Given the description of an element on the screen output the (x, y) to click on. 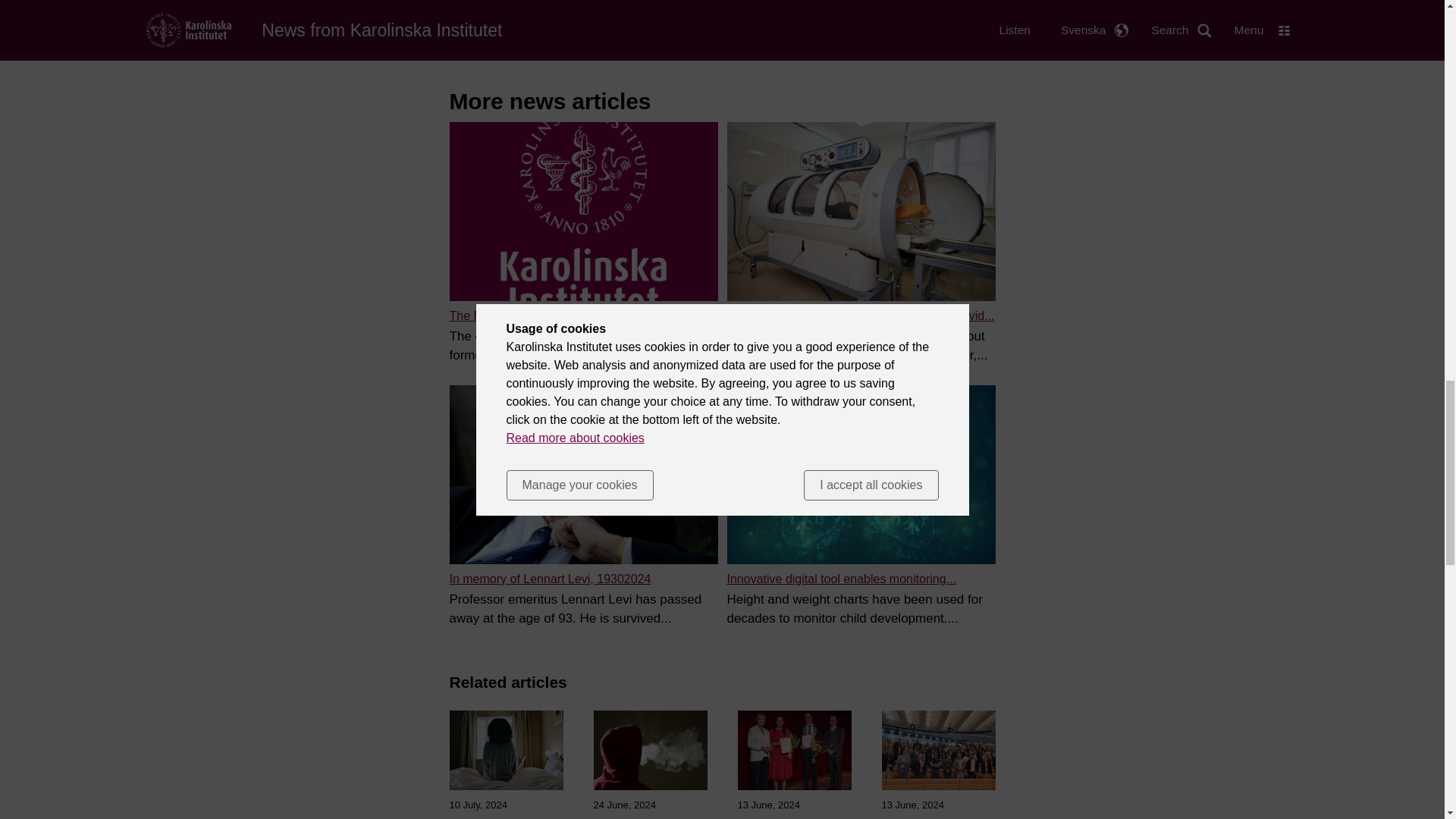
Facebook (523, 26)
Hyperbaric oxygen therapy tested for post-covid... (860, 315)
Twitter (576, 26)
In memory of Lennart Levi, 19302024 (549, 578)
The Macchiarini case: Timeline (531, 315)
Women lose more years of life after a heart attack than men (505, 817)
Nicotine in a new guise (649, 817)
The Macchiarini case: Timeline (531, 315)
Hyperbaric oxygen therapy tested for post-covid... (860, 315)
Innovative digital tool enables monitoring... (840, 578)
Innovative digital tool enables monitoring... (840, 578)
In memory of Lennart Levi, 19302024 (549, 578)
LinkedIn (629, 26)
